Given the description of an element on the screen output the (x, y) to click on. 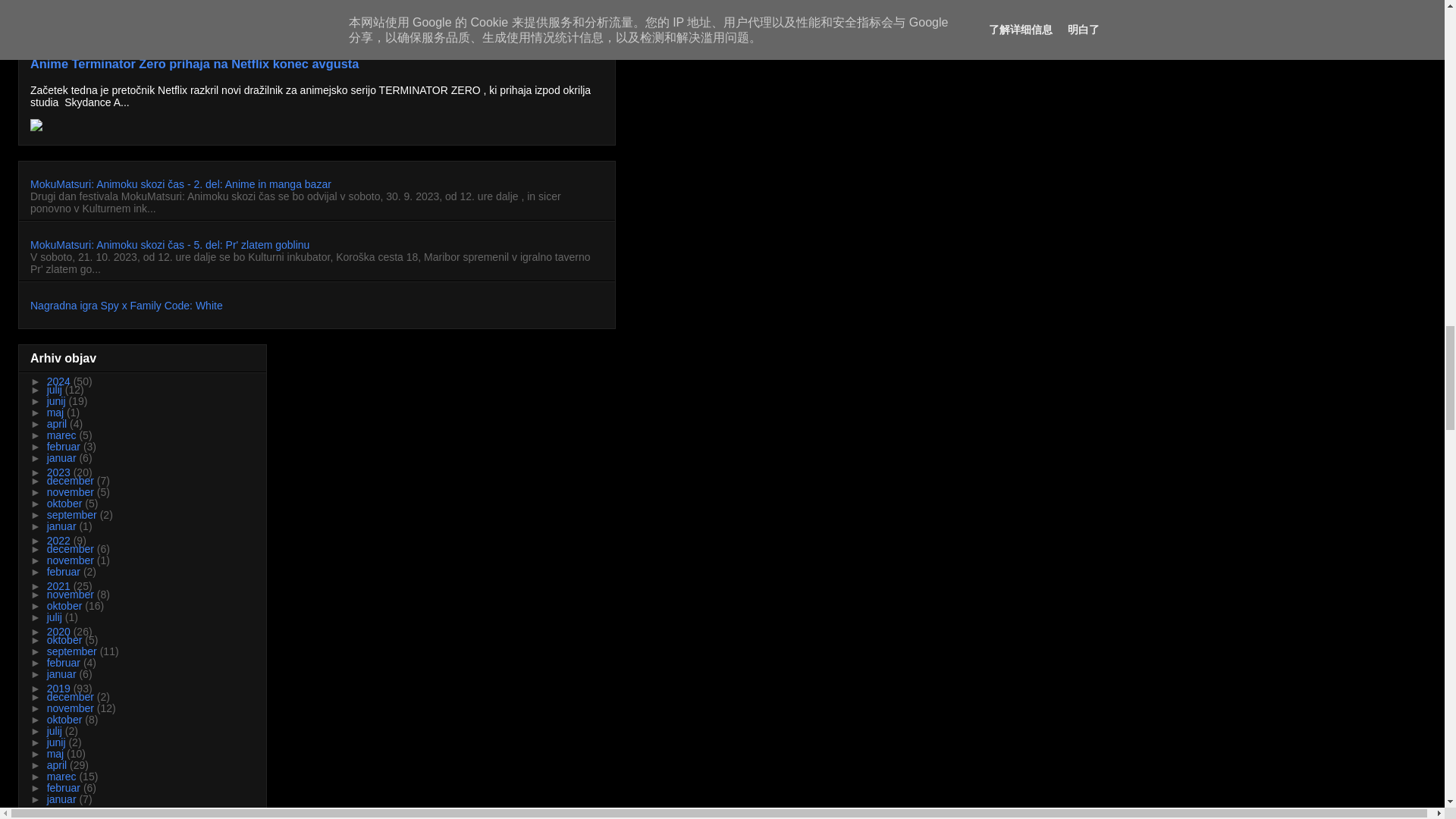
Nagradna igra Spy x Family Code: White (126, 305)
Anime Terminator Zero prihaja na Netflix konec avgusta (194, 63)
